Given the description of an element on the screen output the (x, y) to click on. 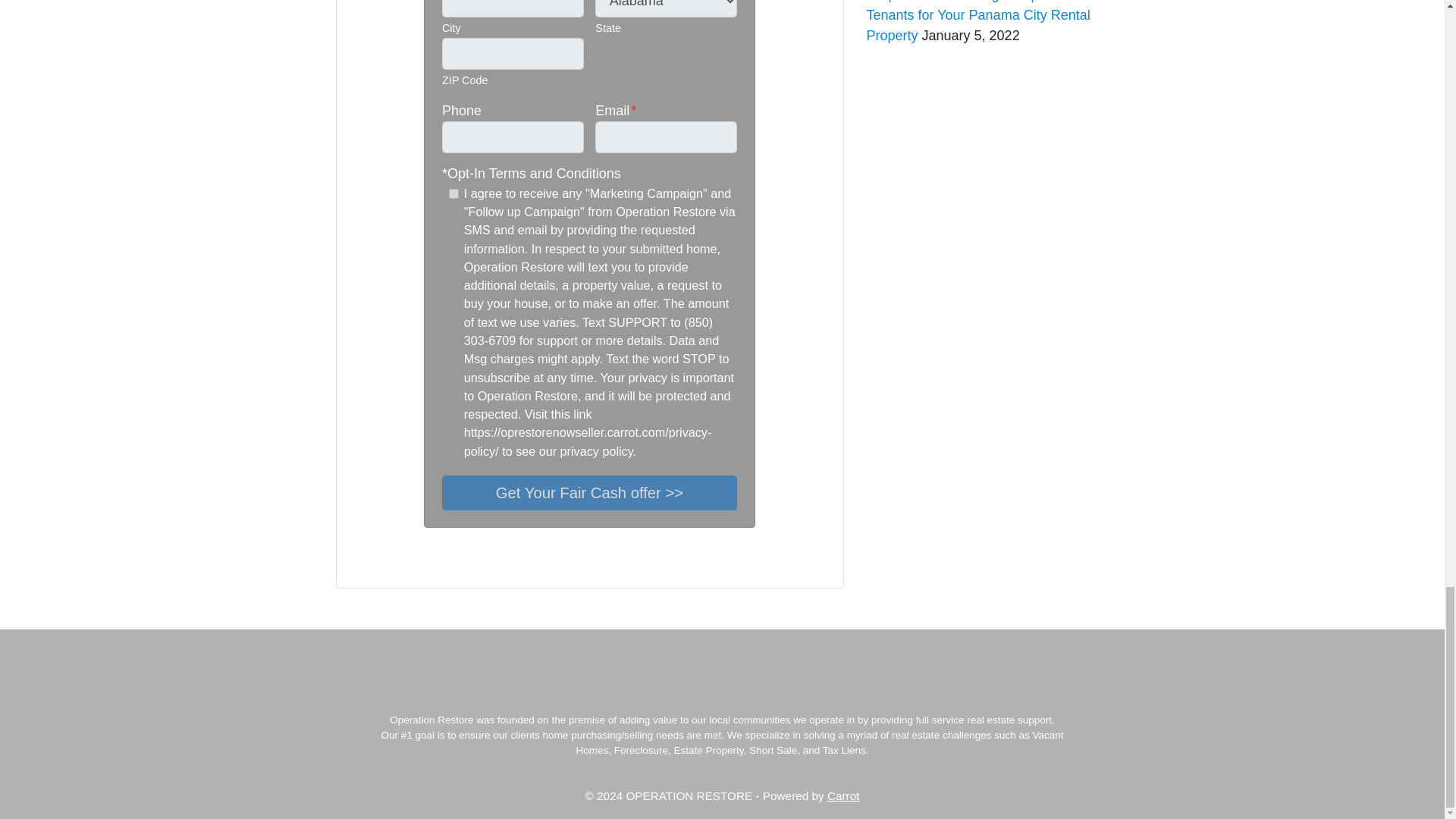
YouTube (397, 562)
Facebook (379, 562)
Twitter (360, 562)
Instagram (415, 562)
